Given the description of an element on the screen output the (x, y) to click on. 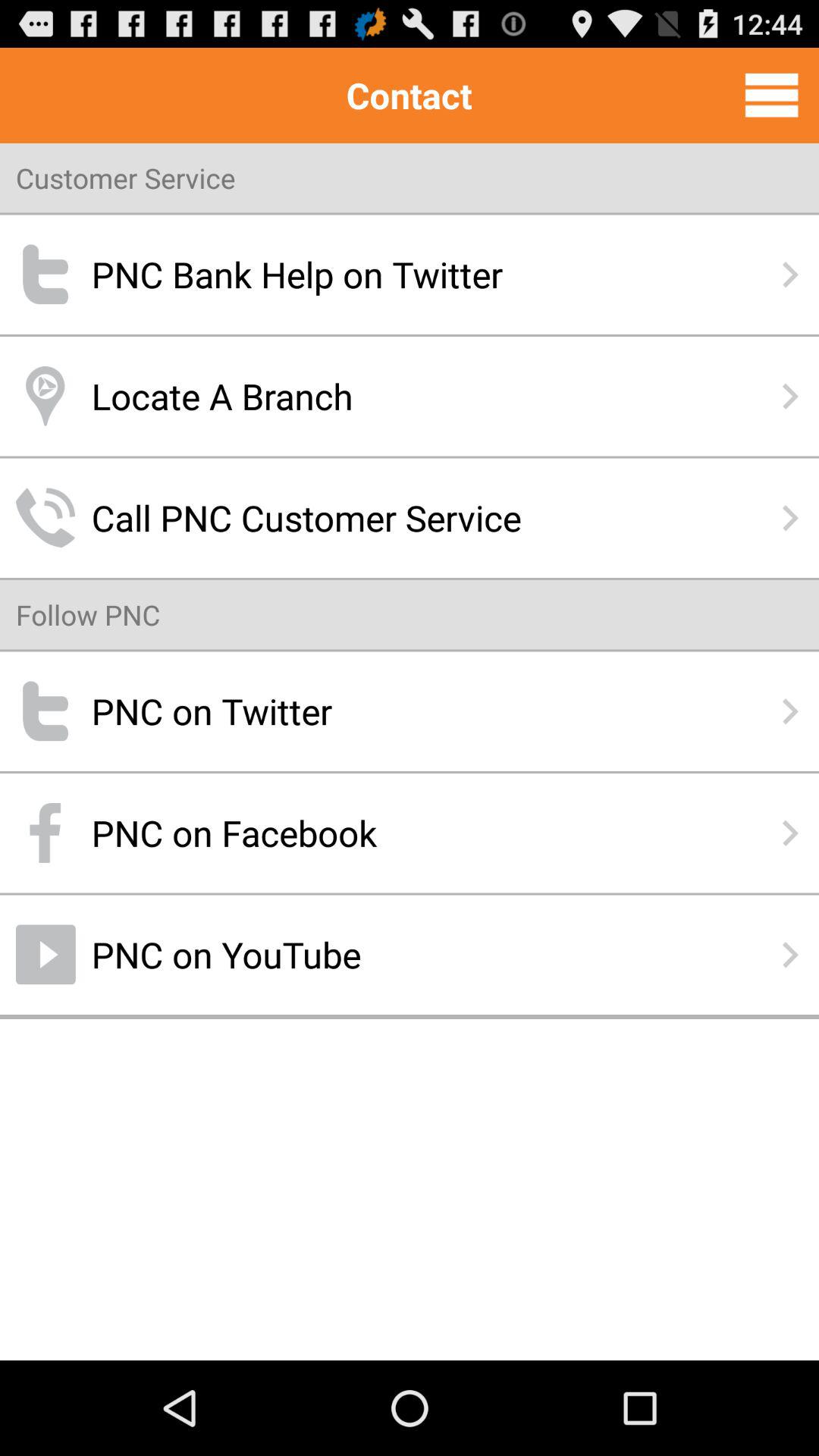
open item above the locate a branch (409, 274)
